Given the description of an element on the screen output the (x, y) to click on. 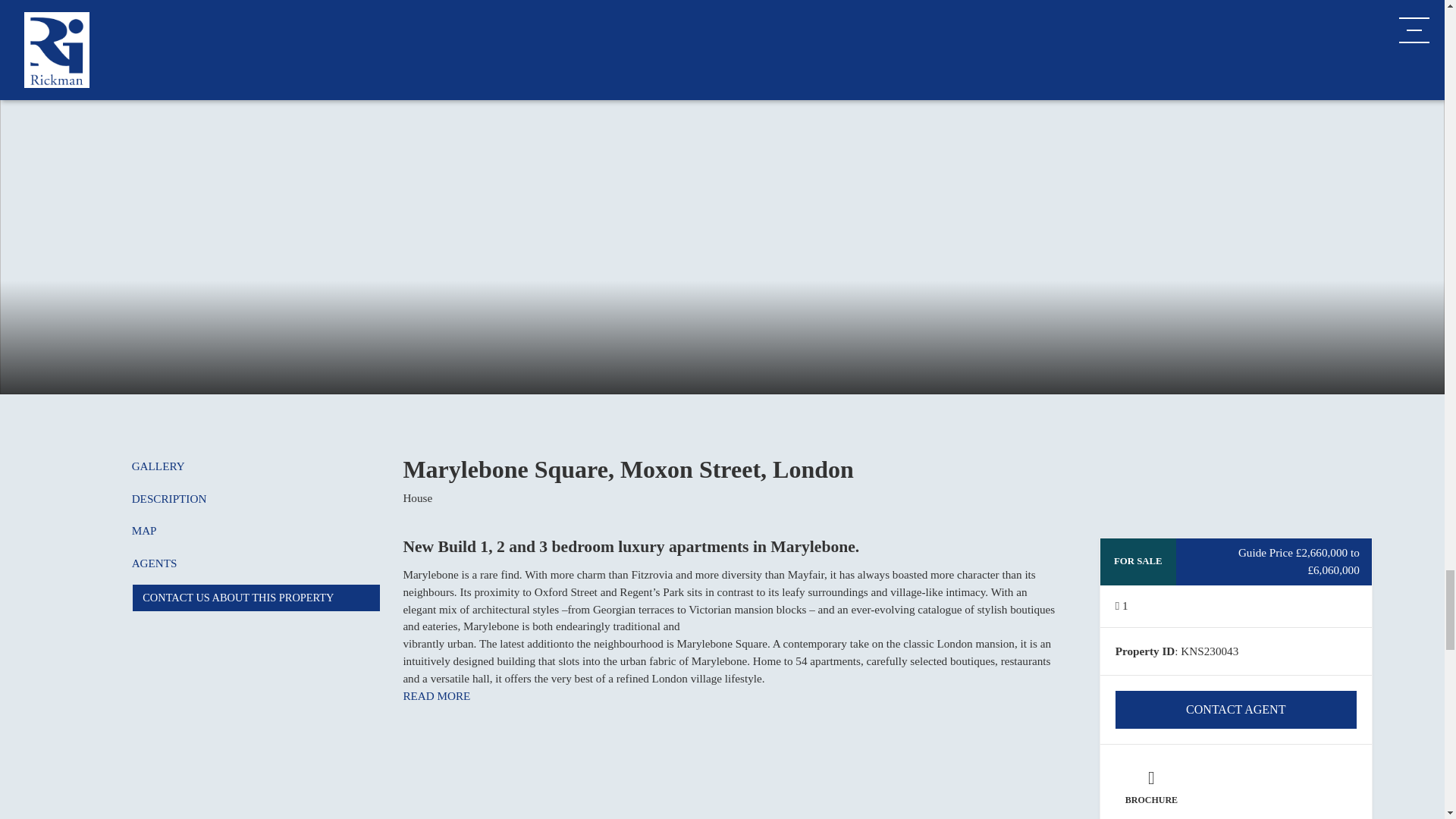
READ MORE (436, 695)
Brochure (1151, 787)
CONTACT US ABOUT THIS PROPERTY (256, 597)
MAP (113, 530)
BROCHURE (1151, 787)
AGENTS (123, 563)
GALLERY (127, 466)
CONTACT AGENT (1235, 709)
DESCRIPTION (138, 498)
